Given the description of an element on the screen output the (x, y) to click on. 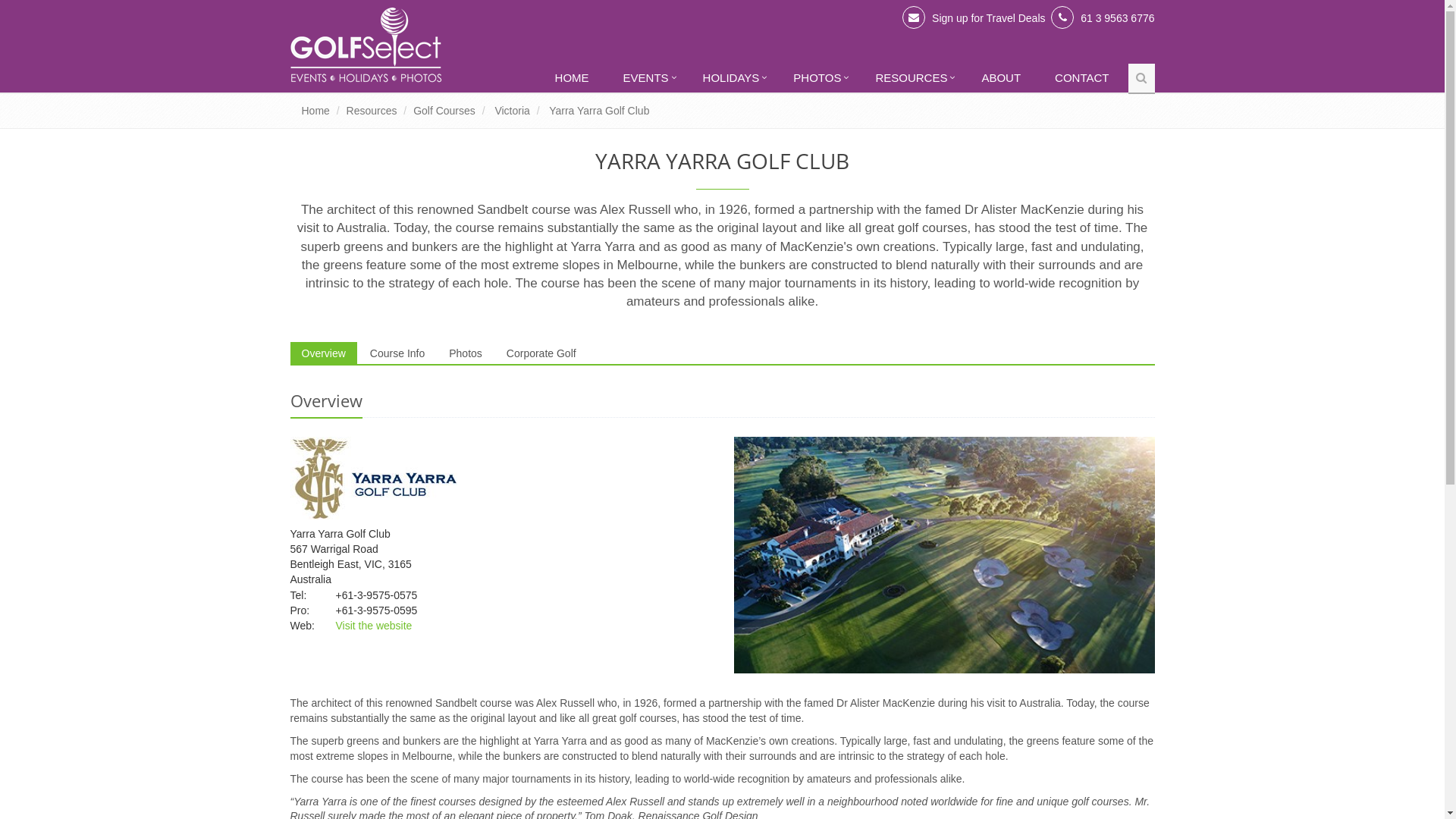
Victoria Element type: text (511, 110)
Sign up for Travel Deals Element type: text (987, 18)
EVENTS Element type: text (647, 78)
PHOTOS Element type: text (818, 78)
Corporate Golf Element type: text (541, 353)
61 3 9563 6776 Element type: text (1117, 18)
Golf Courses Element type: text (444, 110)
Visit the website Element type: text (373, 625)
ABOUT Element type: text (1002, 78)
Home Element type: text (315, 110)
RESOURCES Element type: text (912, 78)
Resources Element type: text (371, 110)
CONTACT Element type: text (1083, 78)
Photos Element type: text (465, 353)
Yarra Yarra Golf Club Element type: text (599, 110)
Overview Element type: text (322, 353)
Course Info Element type: text (397, 353)
HOLIDAYS Element type: text (732, 78)
HOME Element type: text (573, 78)
